Given the description of an element on the screen output the (x, y) to click on. 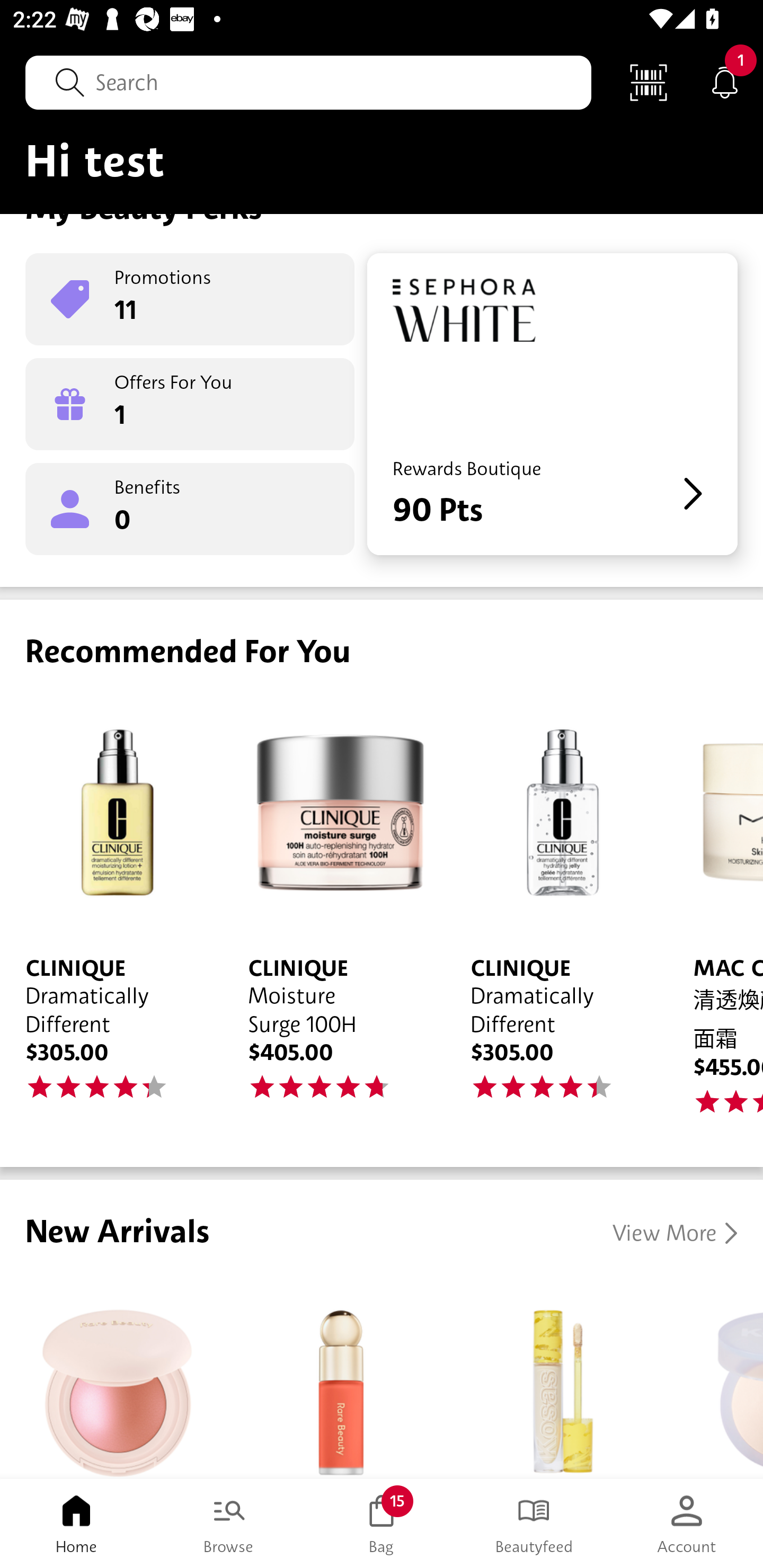
Scan Code (648, 81)
Notifications (724, 81)
Search (308, 81)
Promotions 11 (189, 298)
Rewards Boutique 90 Pts (552, 403)
Offers For You 1 (189, 403)
Benefits 0 (189, 508)
New Arrivals View More (381, 1328)
View More (674, 1232)
Browse (228, 1523)
Bag 15 Bag (381, 1523)
Beautyfeed (533, 1523)
Account (686, 1523)
